Given the description of an element on the screen output the (x, y) to click on. 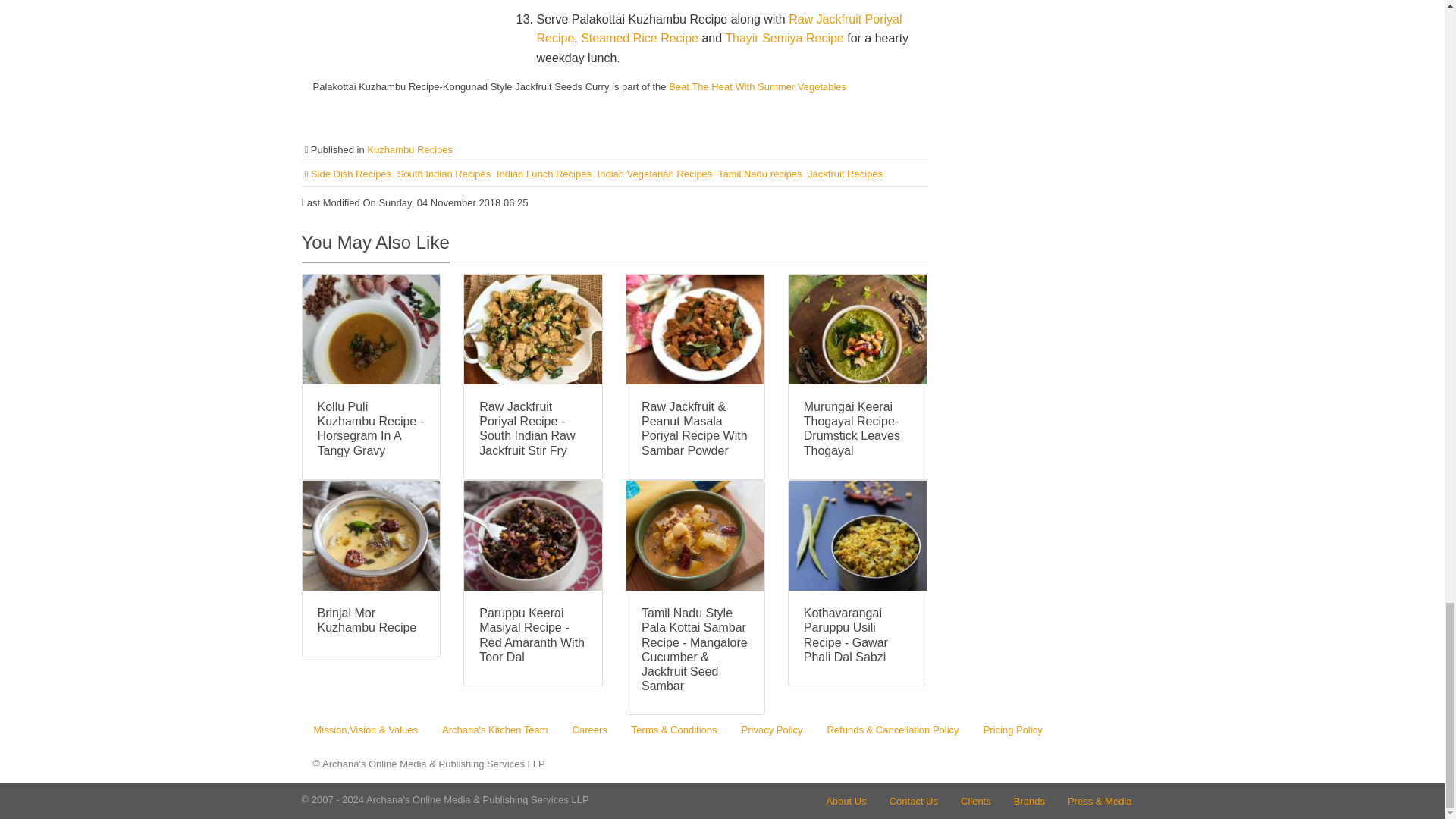
Thayir Semiya Recipe (786, 38)
Kuzhambu Recipes (409, 149)
Beat The Heat With Summer Vegetables (756, 86)
Raw Jackfruit Poriyal Recipe (718, 29)
Jackfruit Recipes (845, 173)
Indian Vegetarian Recipes (655, 173)
Side Dish Recipes (352, 173)
South Indian Recipes (445, 173)
Steamed Rice Recipe (640, 38)
Kollu Puli Kuzhambu Recipe - Horsegram In A Tangy Gravy (371, 428)
